Given the description of an element on the screen output the (x, y) to click on. 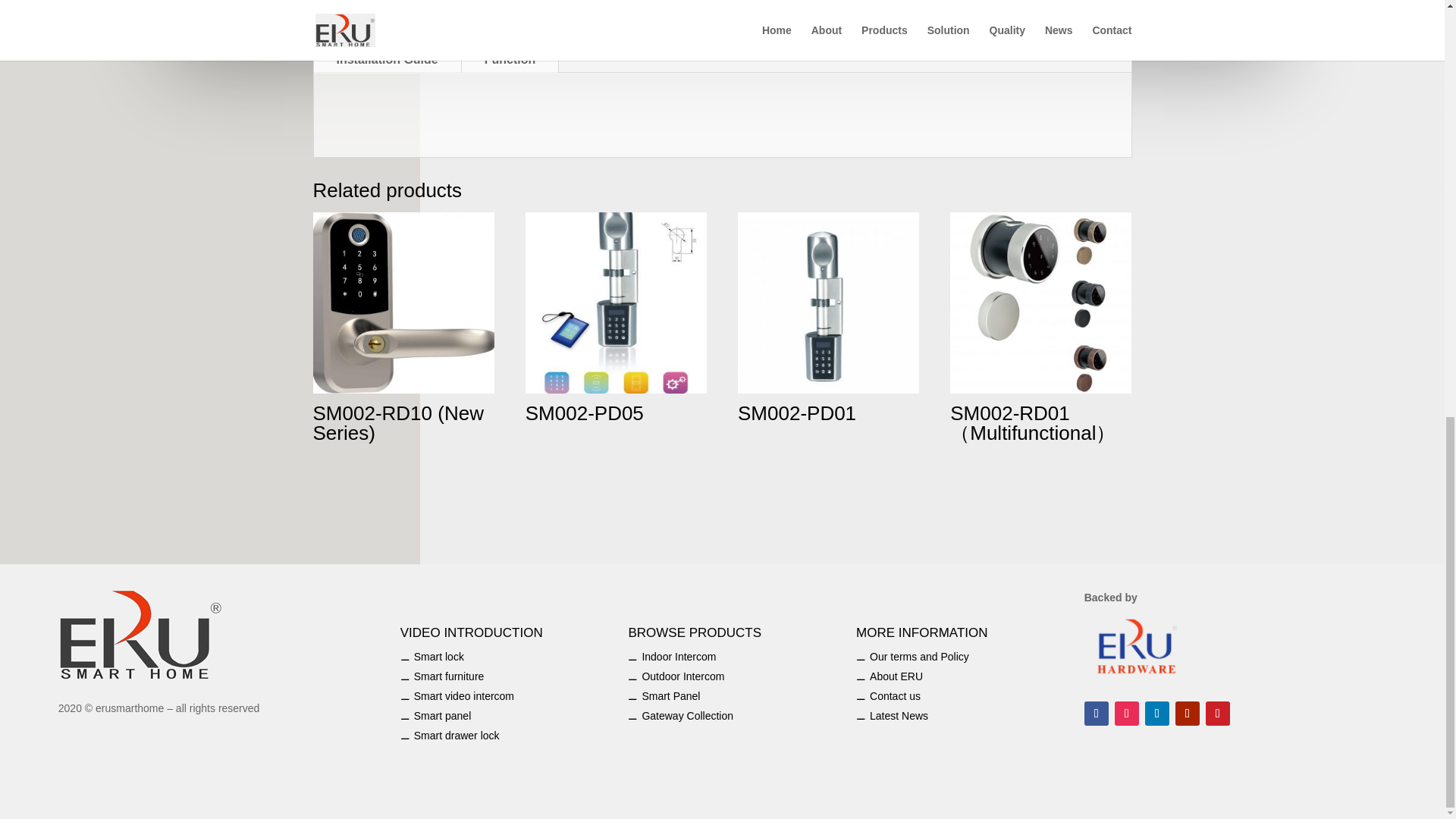
Follow on Facebook (1096, 713)
eru-smart-home-logo-mc (141, 634)
Follow on Instagram (1126, 713)
Follow on LinkedIn (1156, 713)
Follow on Youtube (1186, 713)
Follow on Pinterest (1217, 713)
